Given the description of an element on the screen output the (x, y) to click on. 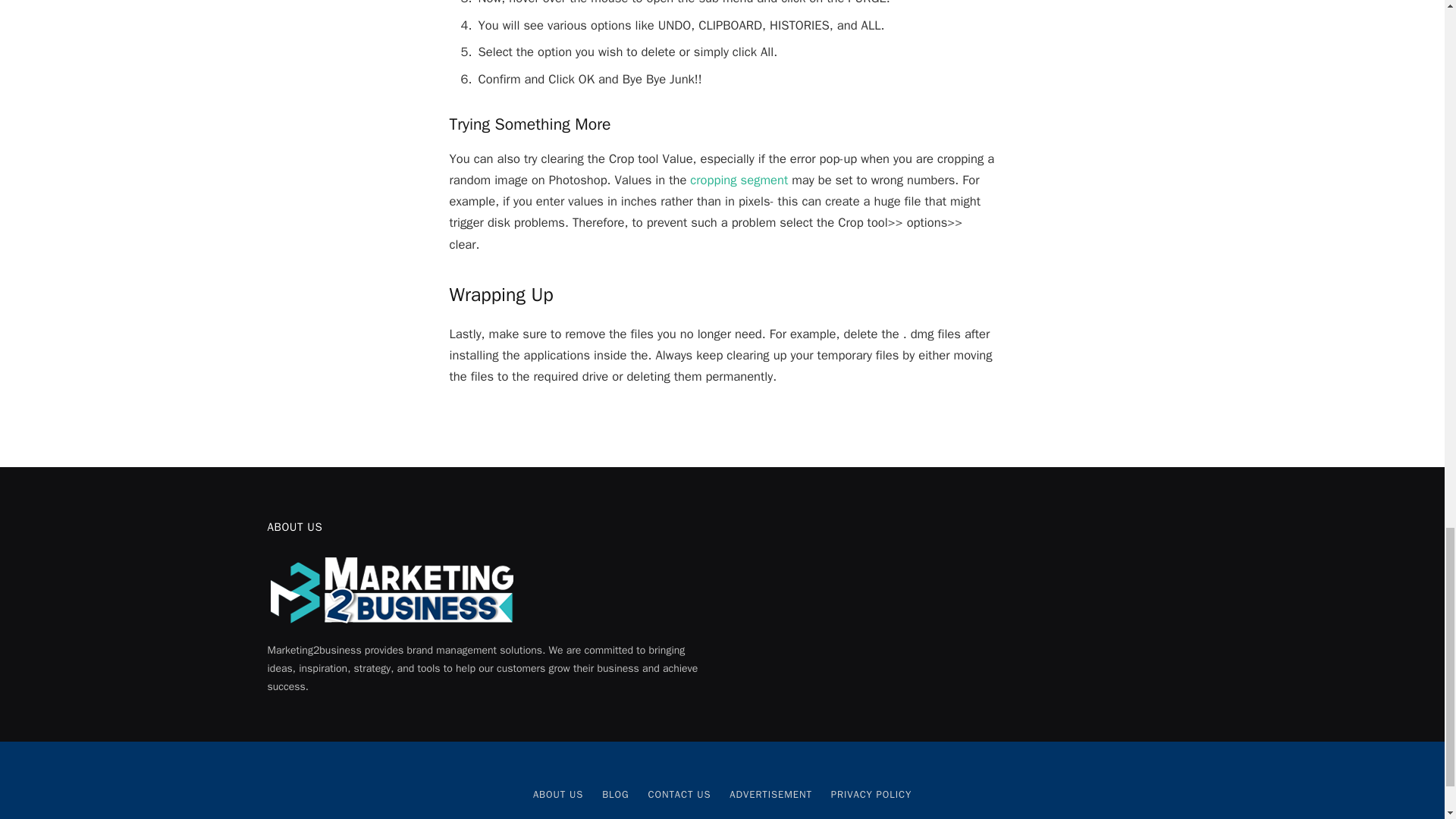
cropping segment (738, 179)
ABOUT US (557, 793)
BLOG (615, 793)
ADVERTISEMENT (769, 793)
CONTACT US (678, 793)
PRIVACY POLICY (871, 793)
